Given the description of an element on the screen output the (x, y) to click on. 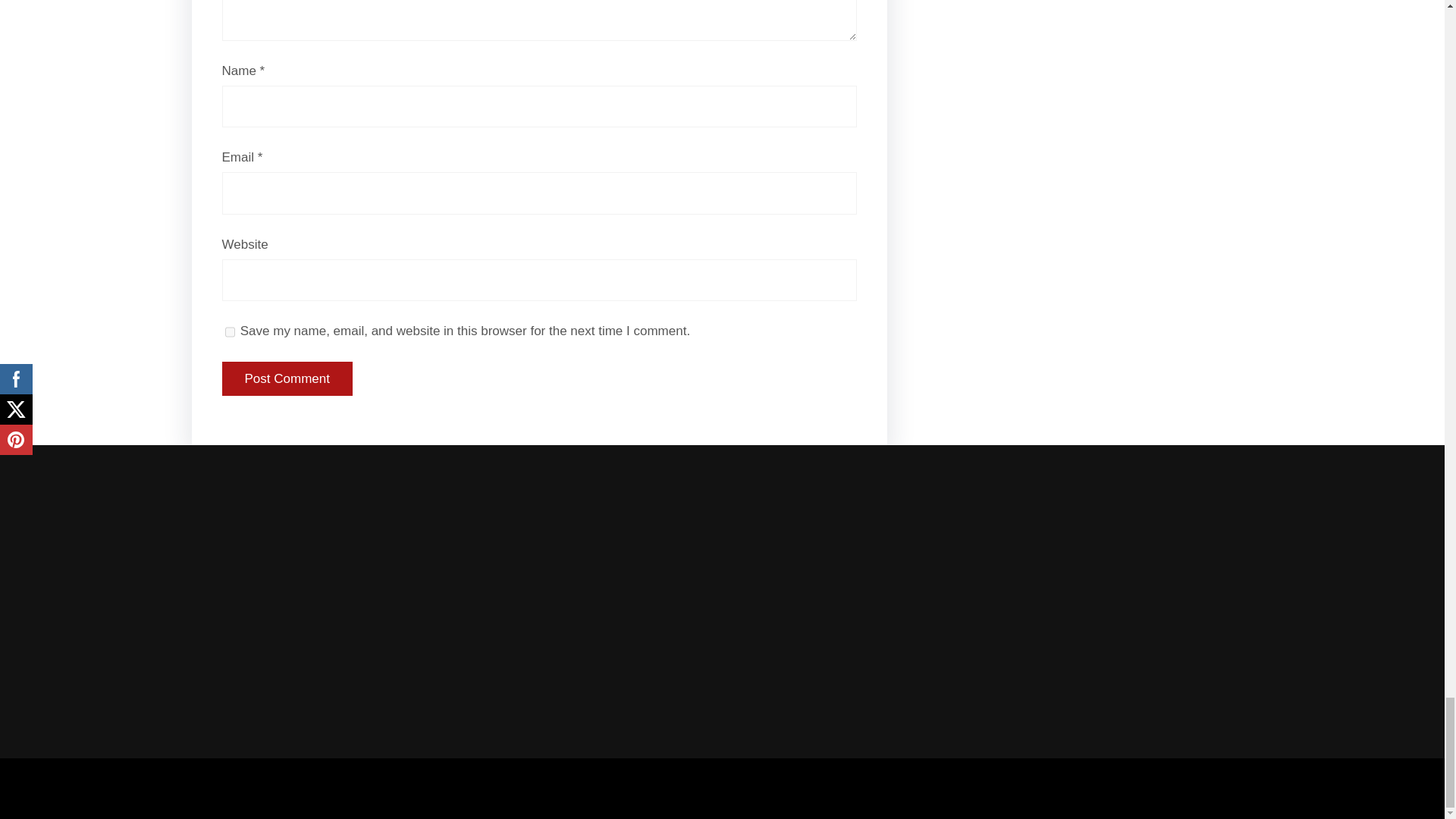
Post Comment (286, 378)
